Given the description of an element on the screen output the (x, y) to click on. 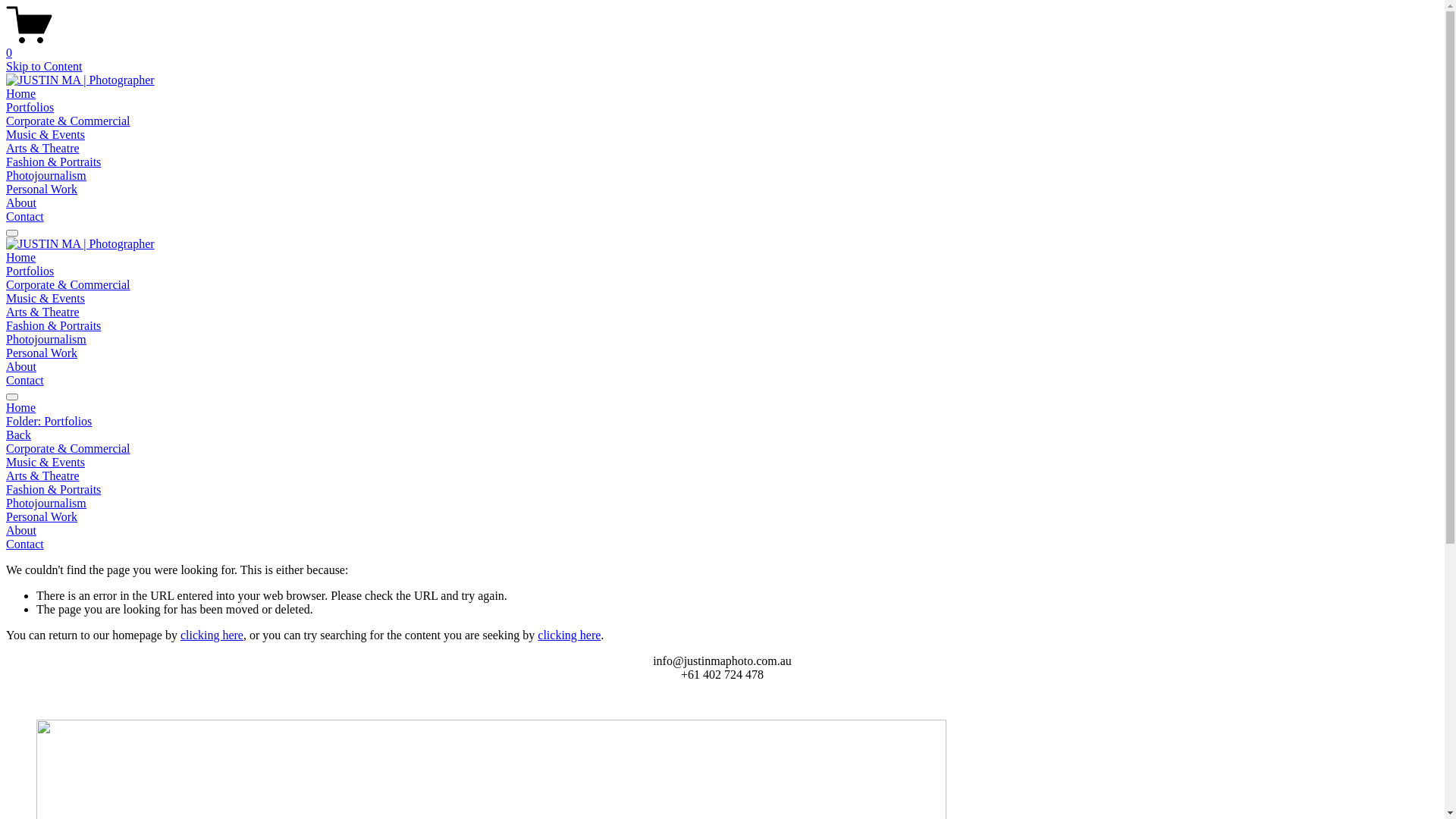
Photojournalism Element type: text (46, 175)
0 Element type: text (722, 45)
Arts & Theatre Element type: text (42, 311)
Fashion & Portraits Element type: text (722, 489)
Home Element type: text (20, 257)
Photojournalism Element type: text (722, 503)
Corporate & Commercial Element type: text (68, 120)
Photojournalism Element type: text (46, 338)
Portfolios Element type: text (29, 106)
Skip to Content Element type: text (43, 65)
Contact Element type: text (24, 379)
clicking here Element type: text (568, 634)
Corporate & Commercial Element type: text (68, 284)
Music & Events Element type: text (45, 297)
Personal Work Element type: text (722, 517)
Portfolios Element type: text (29, 270)
About Element type: text (21, 366)
Fashion & Portraits Element type: text (53, 161)
Music & Events Element type: text (722, 462)
Arts & Theatre Element type: text (722, 476)
Corporate & Commercial Element type: text (722, 448)
Personal Work Element type: text (41, 352)
Folder: Portfolios Element type: text (722, 421)
Arts & Theatre Element type: text (42, 147)
Fashion & Portraits Element type: text (53, 325)
Music & Events Element type: text (45, 134)
Contact Element type: text (24, 216)
Back Element type: text (18, 434)
clicking here Element type: text (211, 634)
About Element type: text (722, 530)
Personal Work Element type: text (41, 188)
Home Element type: text (722, 407)
Home Element type: text (20, 93)
Contact Element type: text (722, 544)
About Element type: text (21, 202)
